Given the description of an element on the screen output the (x, y) to click on. 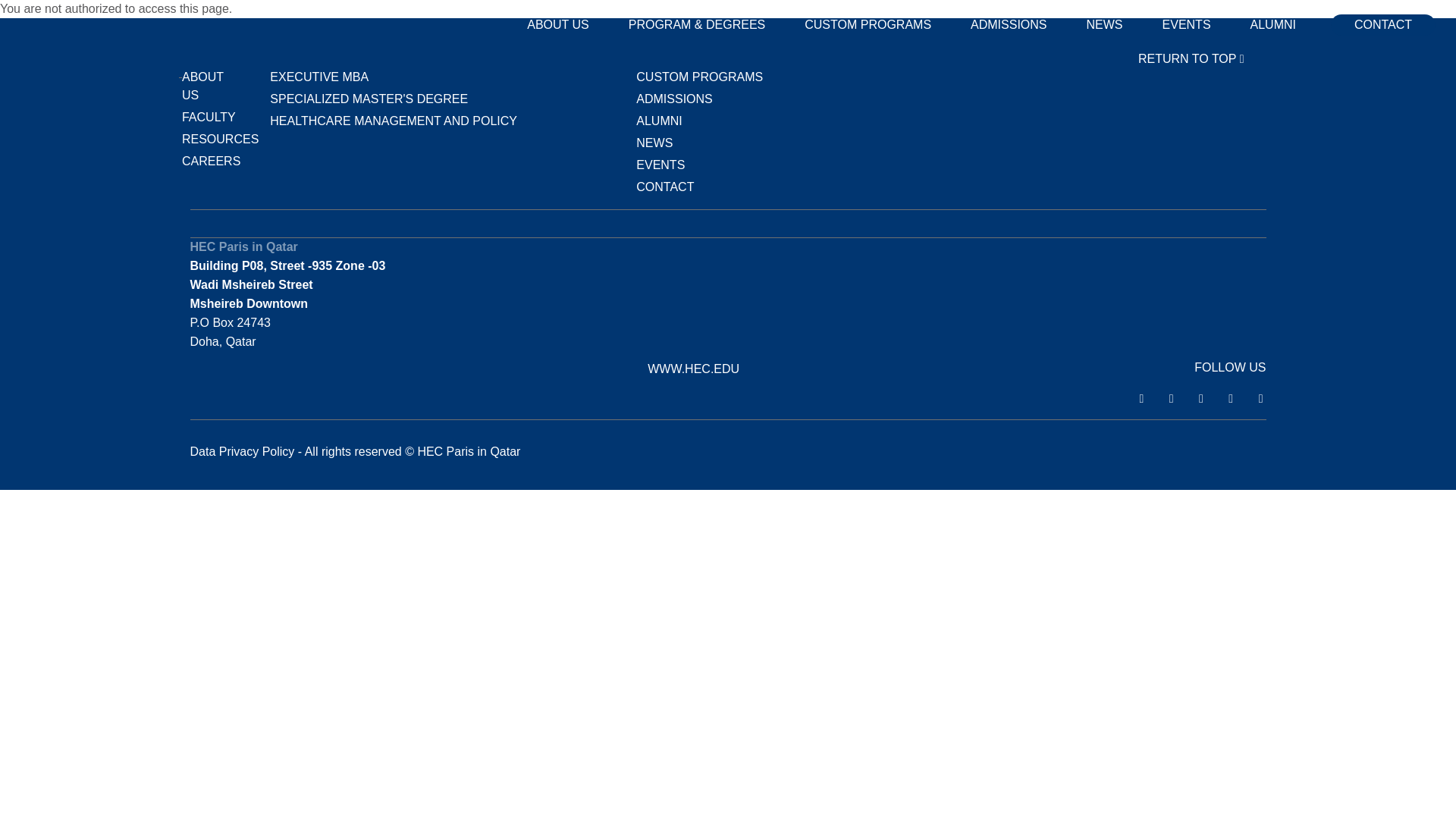
CAREERS (211, 161)
EVENTS (660, 165)
WWW.HEC.EDU (693, 369)
ABOUT US (558, 24)
ALUMNI (1273, 24)
ABOUT US (203, 85)
CONTACT (1382, 25)
HEALTHCARE MANAGEMENT AND POLICY (392, 121)
CONTACT (665, 187)
CUSTOM PROGRAMS (867, 24)
